Given the description of an element on the screen output the (x, y) to click on. 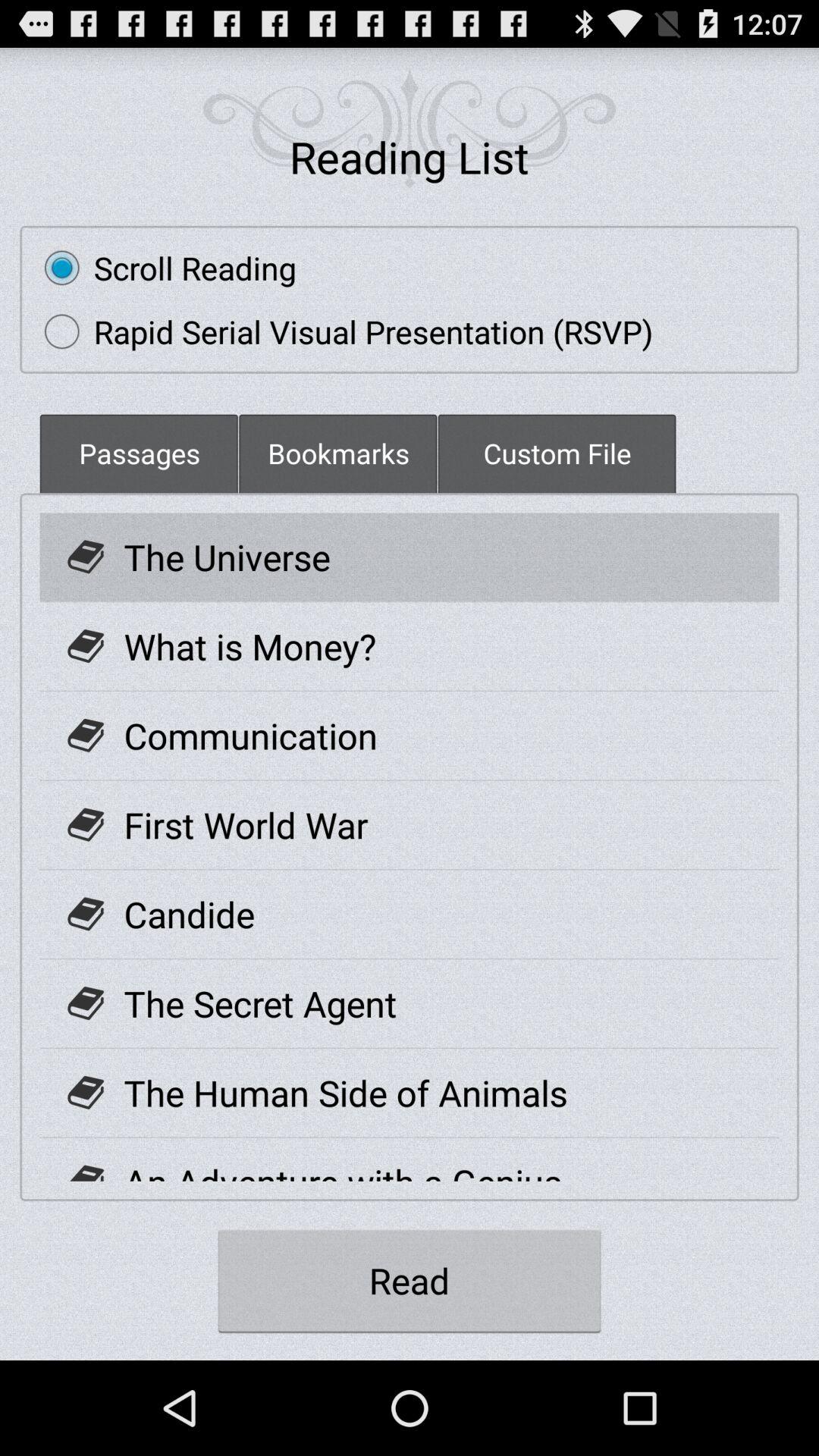
swipe to the universe icon (227, 557)
